Given the description of an element on the screen output the (x, y) to click on. 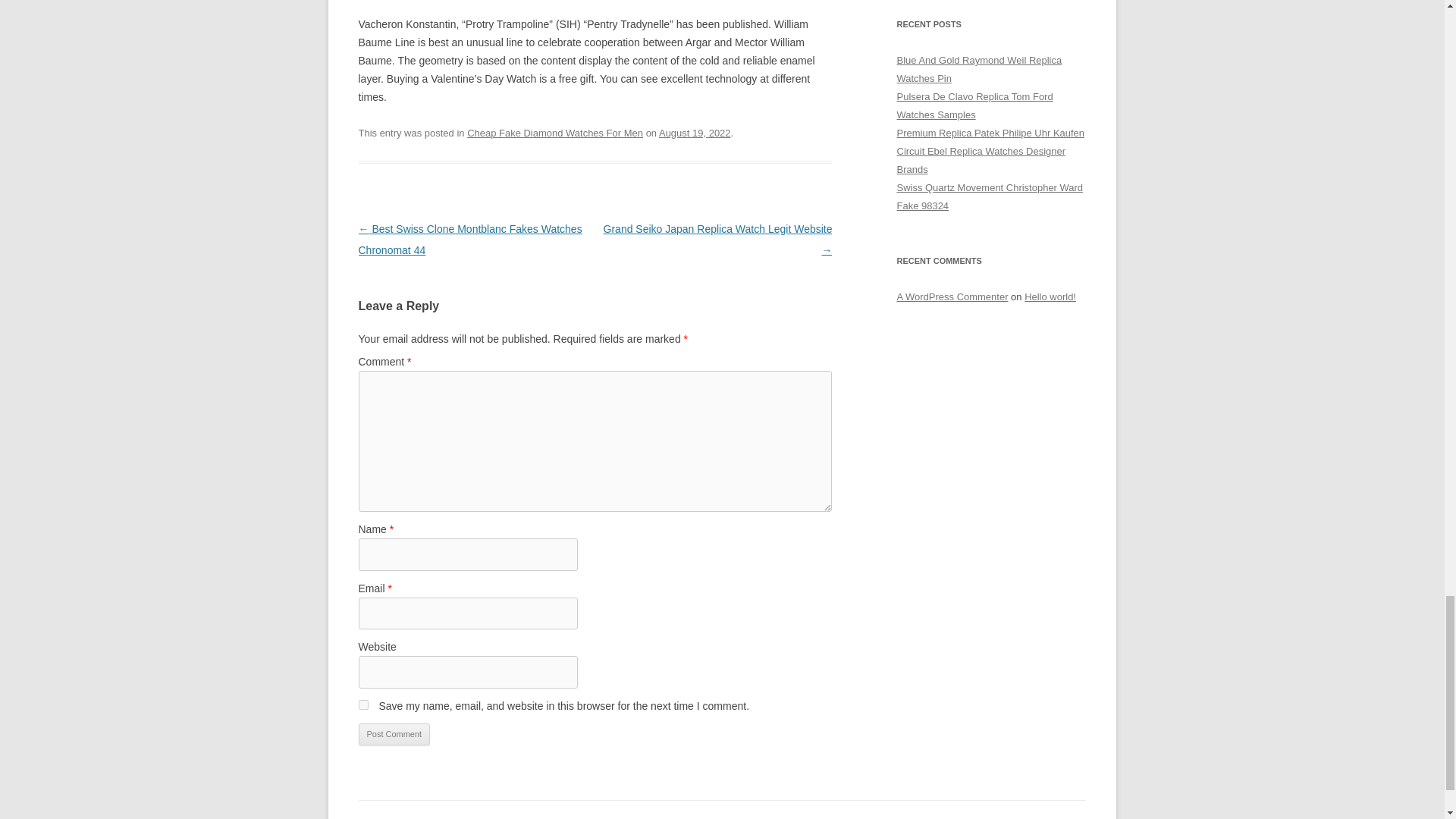
yes (363, 705)
10:47 am (694, 132)
Post Comment (393, 734)
August 19, 2022 (694, 132)
Post Comment (393, 734)
Cheap Fake Diamond Watches For Men (555, 132)
